Given the description of an element on the screen output the (x, y) to click on. 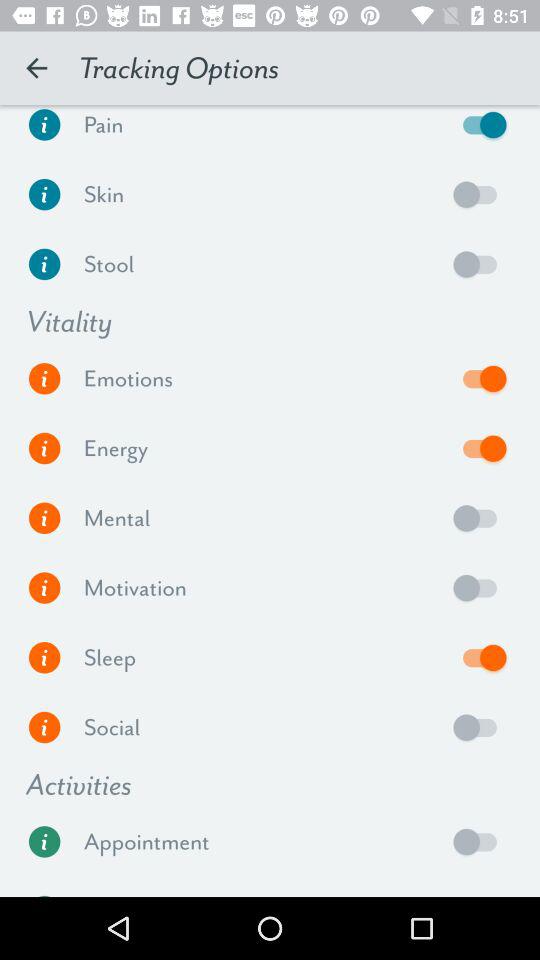
see more information (44, 130)
